Given the description of an element on the screen output the (x, y) to click on. 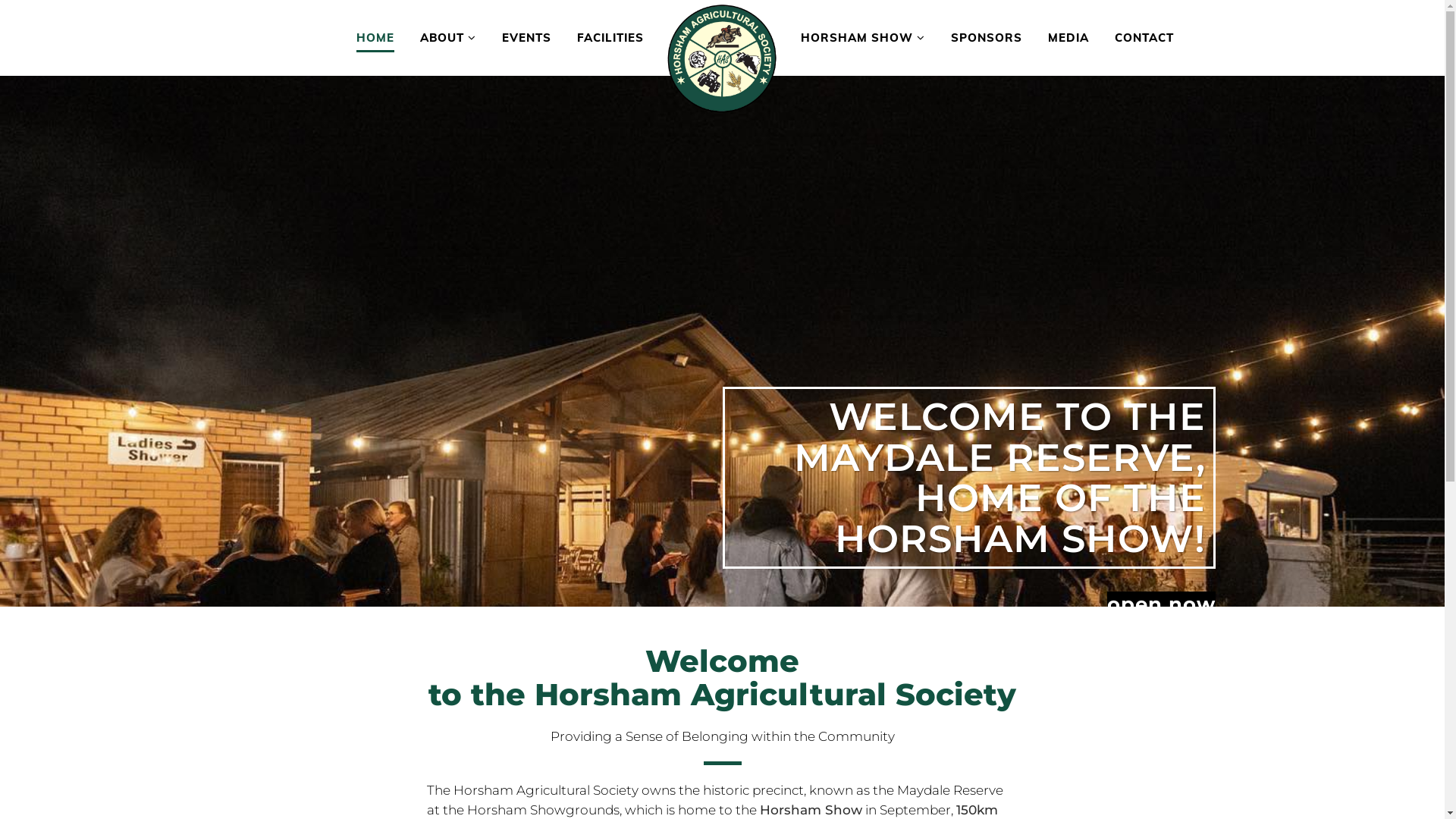
FACILITIES Element type: text (610, 37)
Horsham Show Element type: text (810, 809)
SPONSORS Element type: text (986, 37)
MEDIA Element type: text (1068, 37)
HORSHAM SHOW Element type: text (862, 37)
CONTACT Element type: text (1143, 37)
EVENTS Element type: text (526, 37)
HOME Element type: text (375, 37)
ABOUT Element type: text (448, 37)
